Given the description of an element on the screen output the (x, y) to click on. 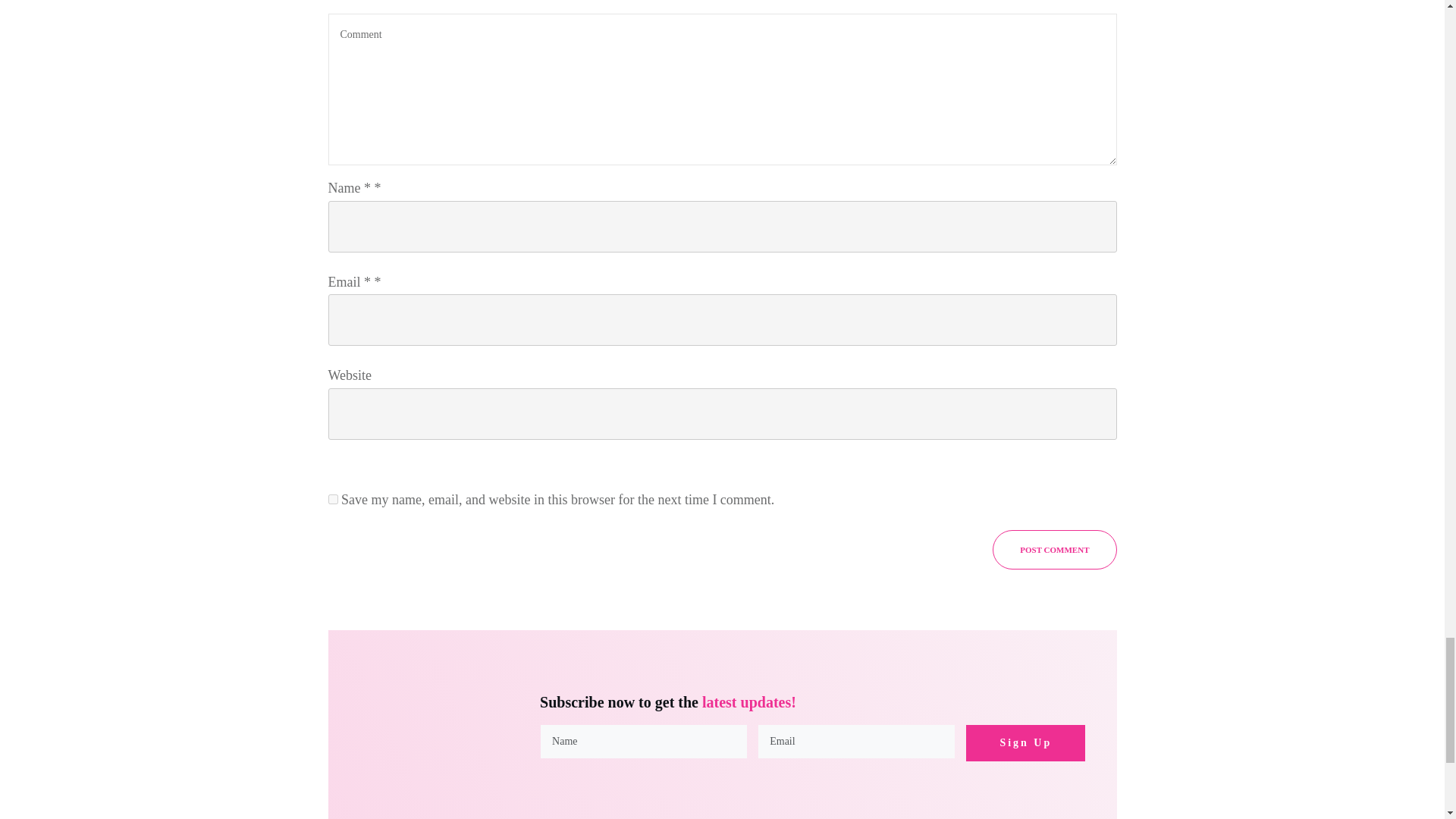
Sign Up (1025, 742)
yes (332, 499)
POST COMMENT (1054, 549)
